Given the description of an element on the screen output the (x, y) to click on. 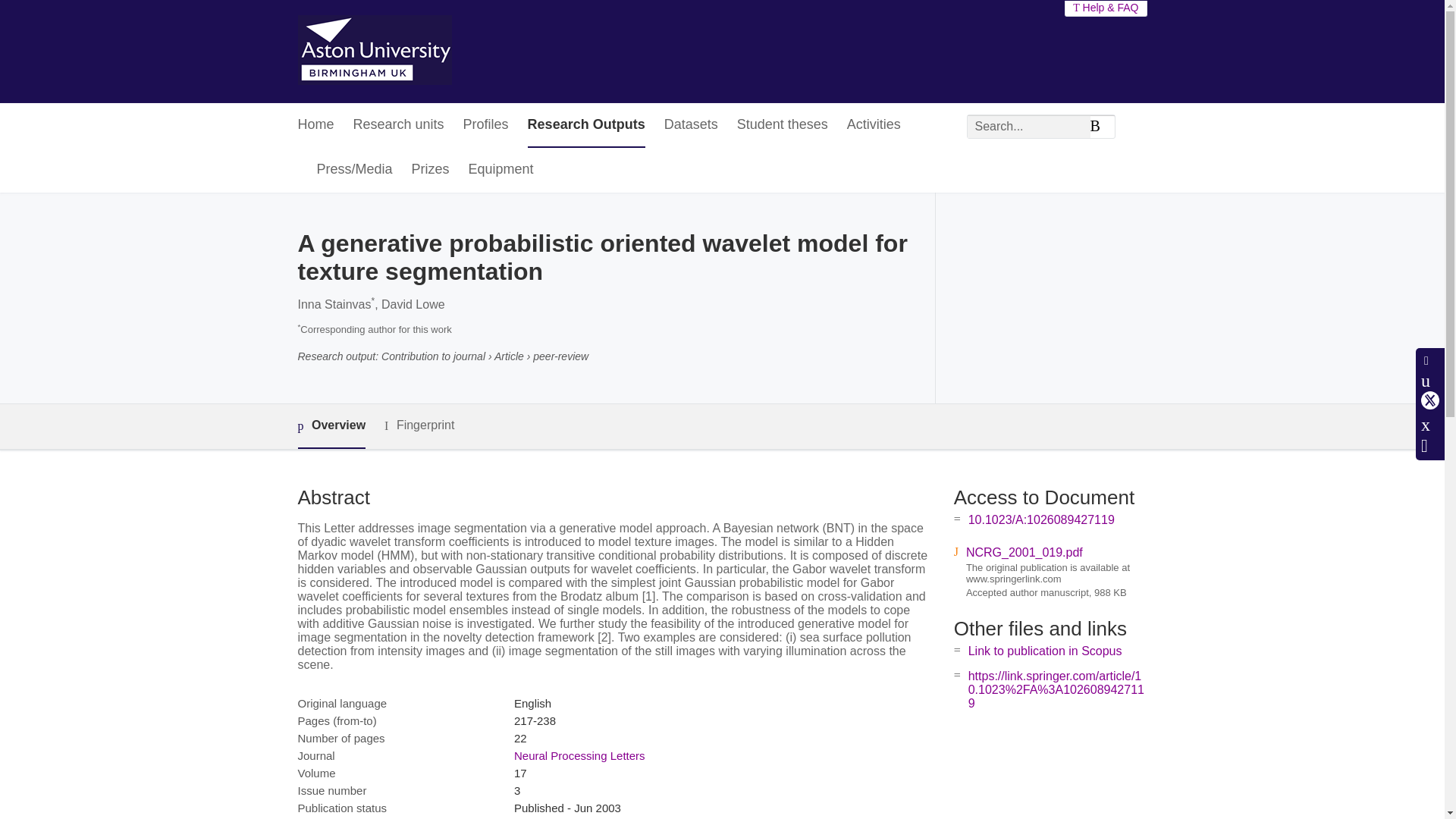
Aston Research Explorer Home (374, 51)
Datasets (690, 125)
Research Outputs (586, 125)
Equipment (501, 170)
Neural Processing Letters (579, 755)
Activities (874, 125)
Overview (331, 426)
Link to publication in Scopus (1045, 650)
Profiles (485, 125)
